Given the description of an element on the screen output the (x, y) to click on. 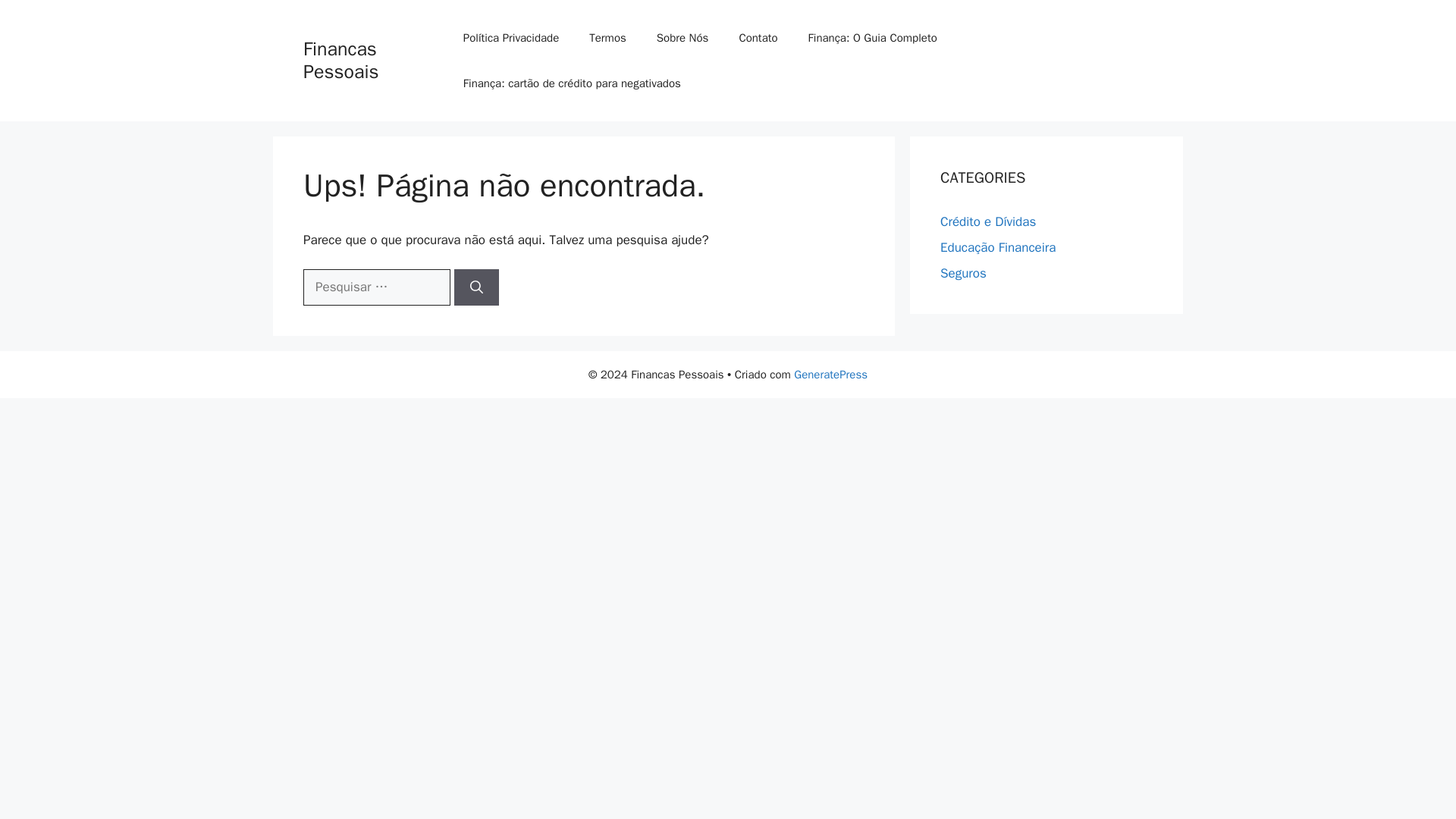
Pesquisar por: (375, 287)
Seguros (963, 273)
Financas Pessoais (340, 59)
GeneratePress (830, 374)
Termos (607, 37)
Contato (757, 37)
